Given the description of an element on the screen output the (x, y) to click on. 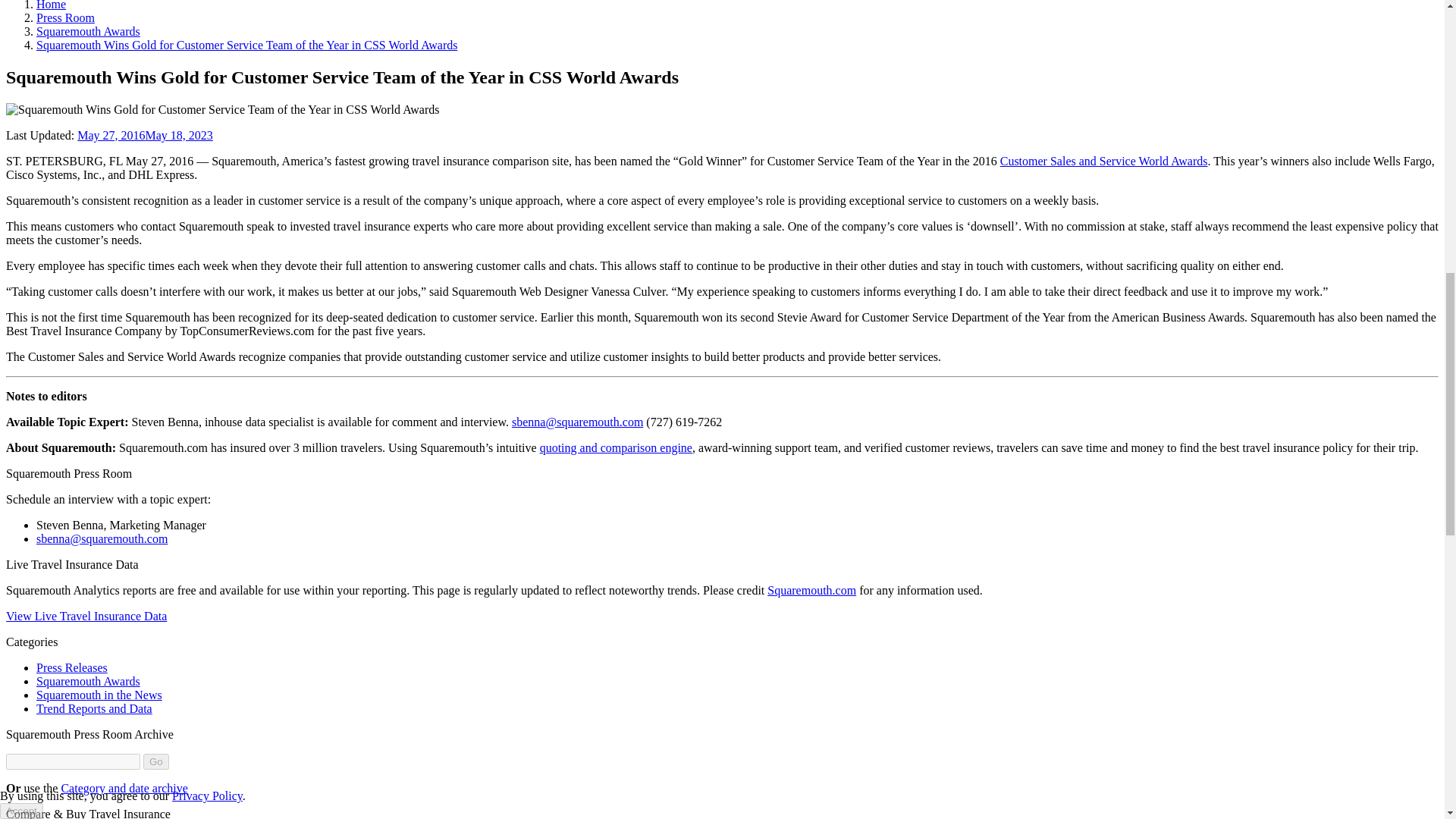
Link to compare travel insurance (616, 447)
5:07 pm (144, 134)
